Given the description of an element on the screen output the (x, y) to click on. 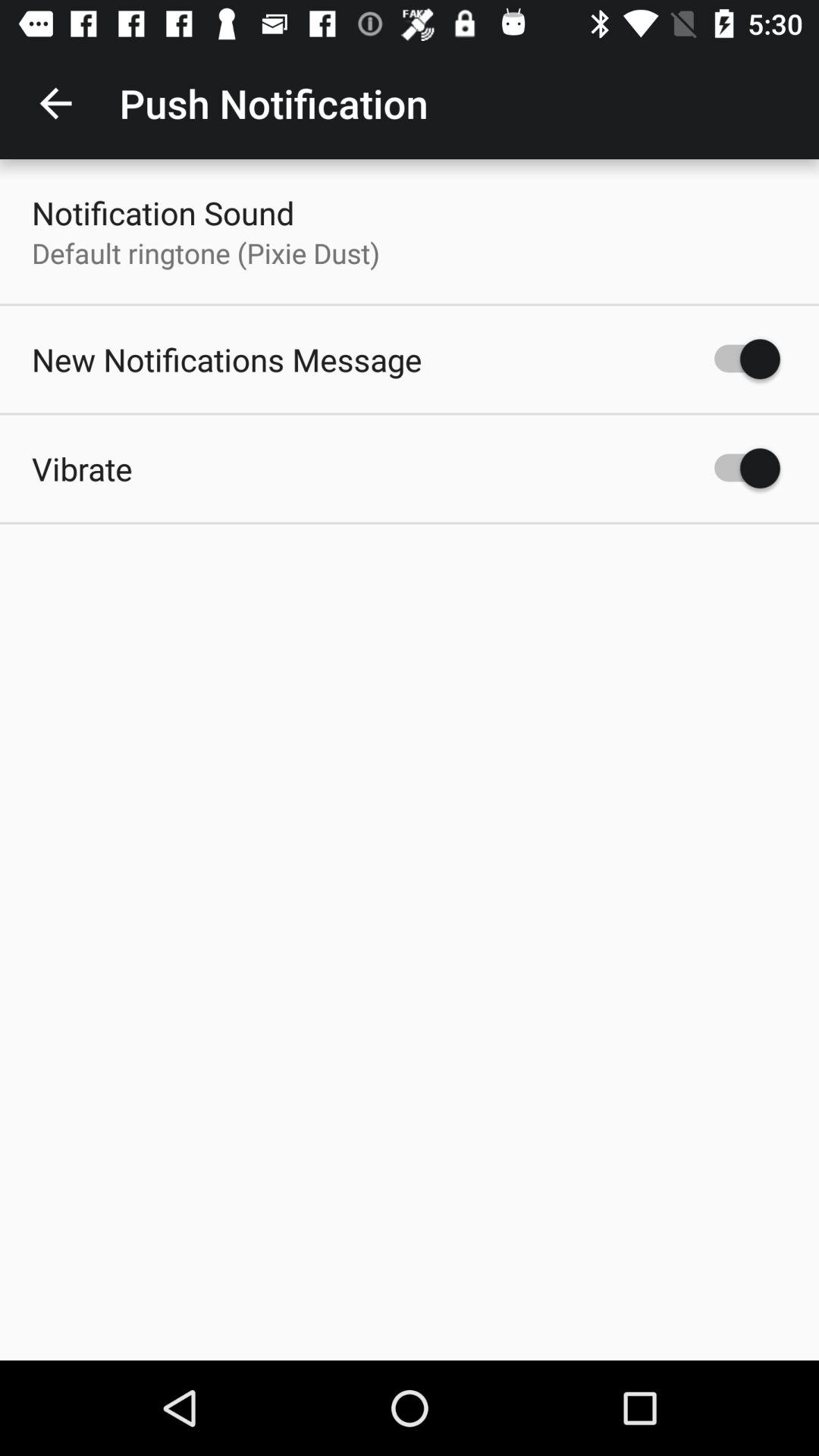
scroll until vibrate item (81, 468)
